Given the description of an element on the screen output the (x, y) to click on. 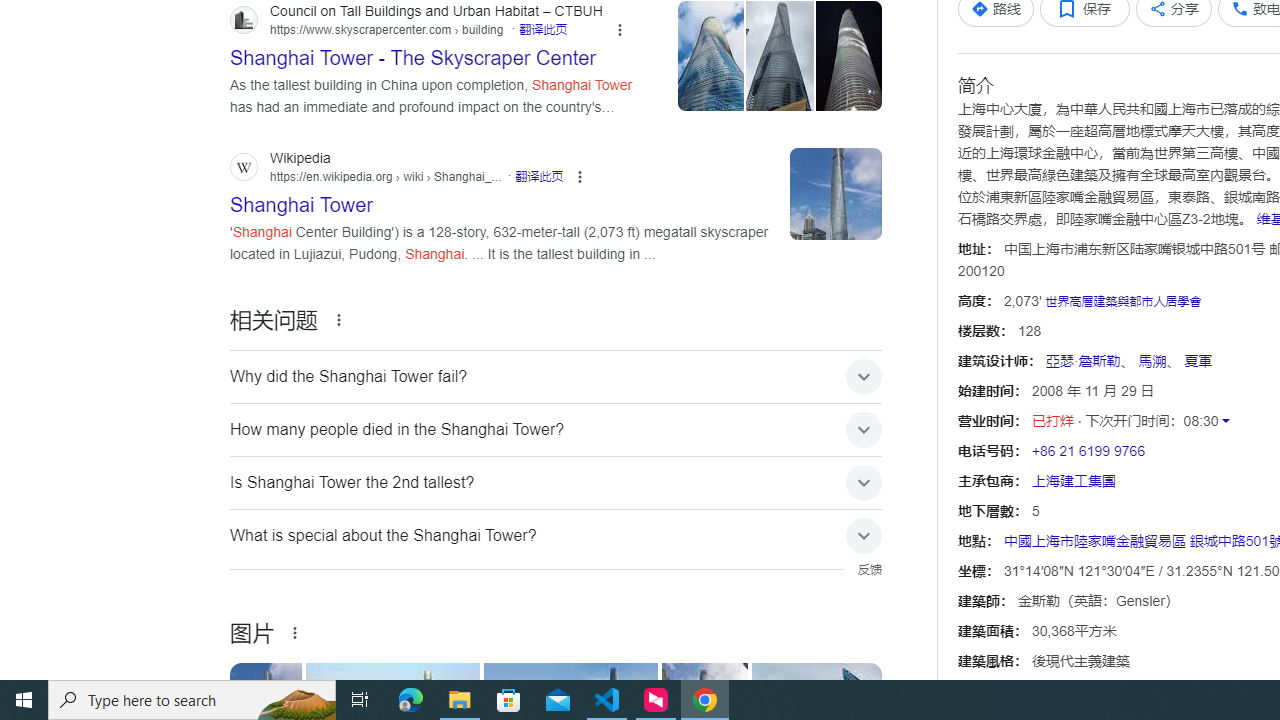
Is Shanghai Tower the 2nd tallest? (555, 482)
How many people died in the Shanghai Tower? (555, 429)
Why did the Shanghai Tower fail? (555, 376)
